Given the description of an element on the screen output the (x, y) to click on. 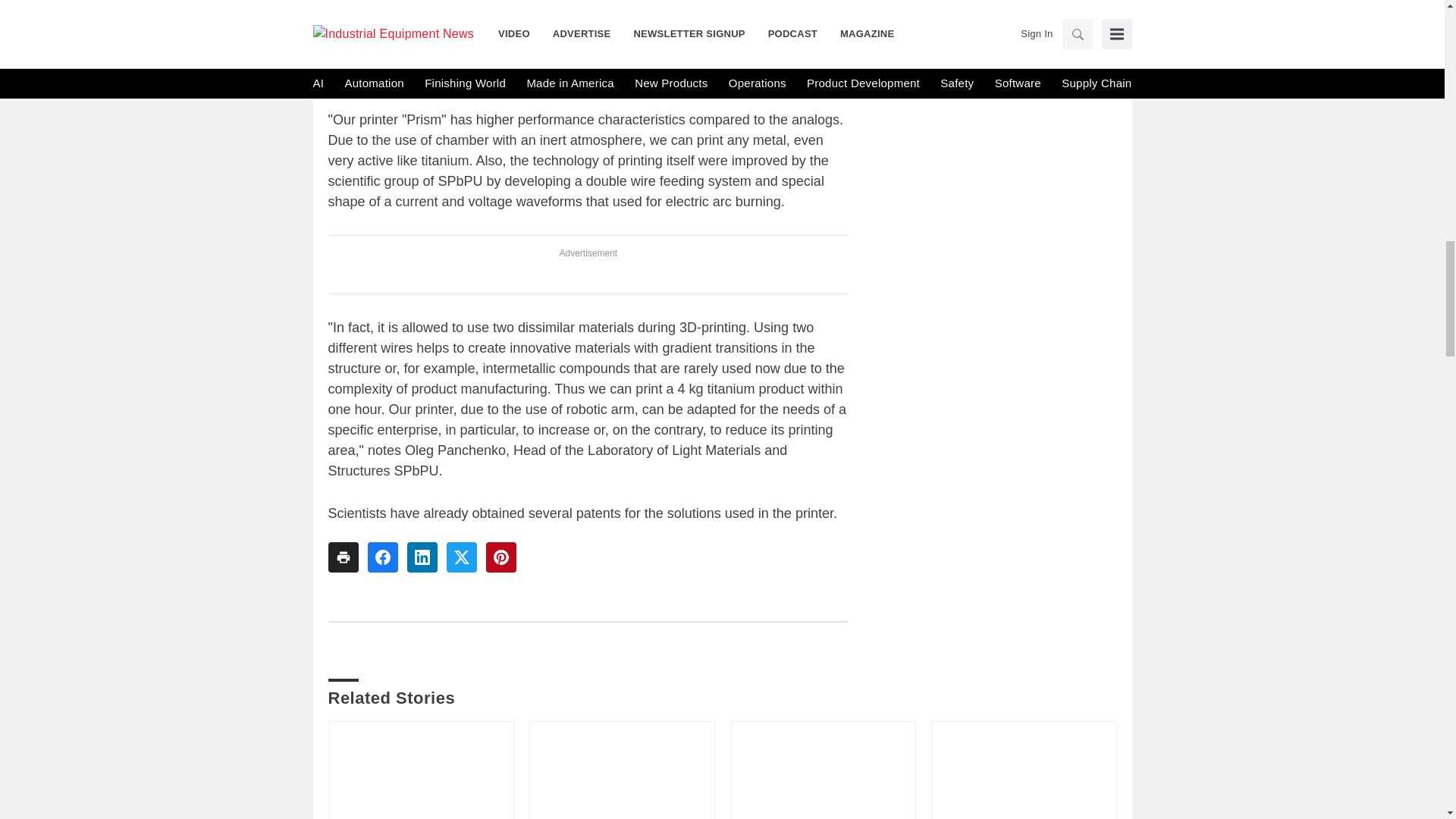
Share To linkedin (421, 557)
Share To facebook (381, 557)
Share To twitter (460, 557)
Share To pinterest (499, 557)
Share To print (342, 557)
